Given the description of an element on the screen output the (x, y) to click on. 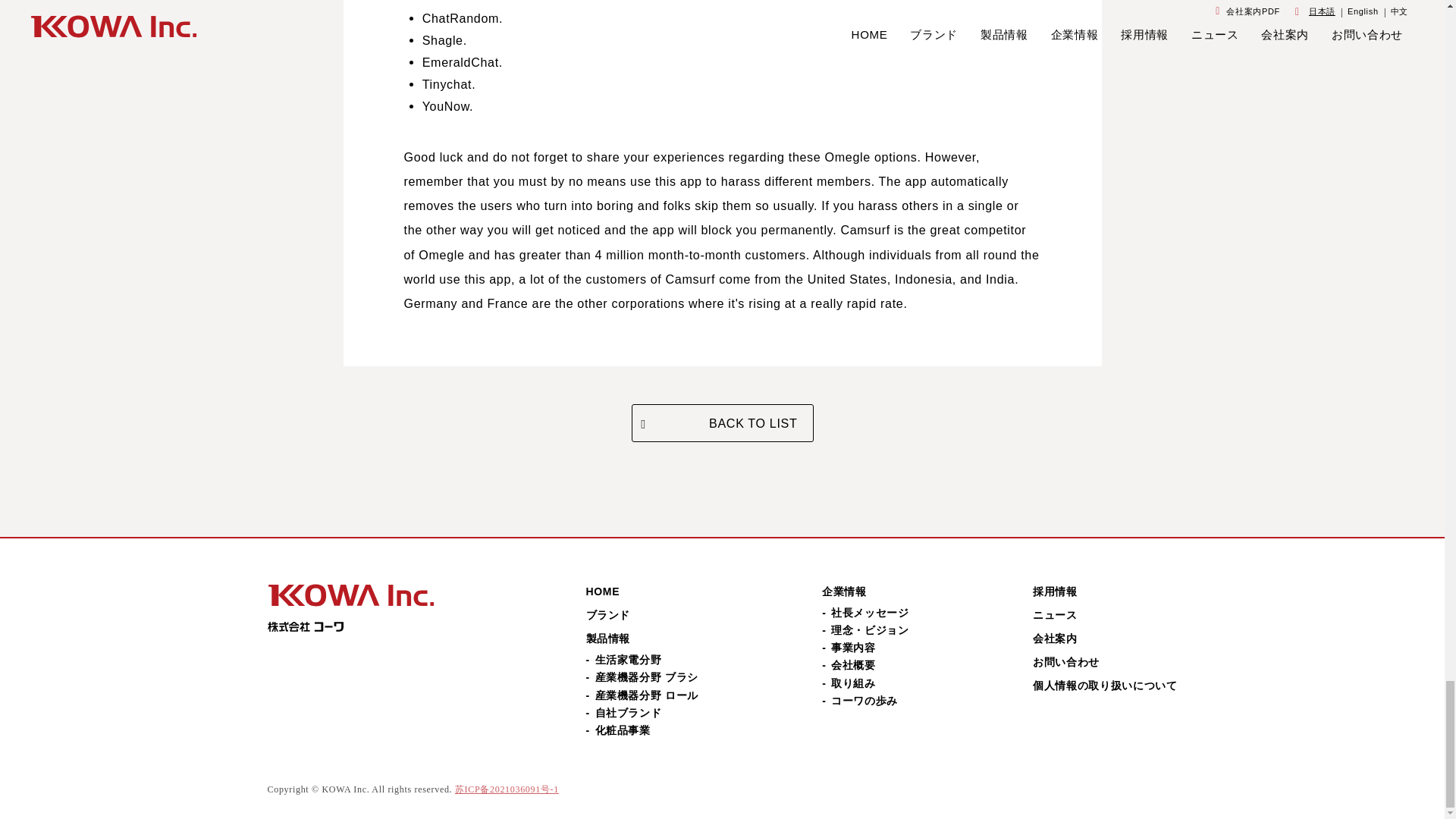
HOME (602, 591)
BACK TO LIST (721, 423)
